Given the description of an element on the screen output the (x, y) to click on. 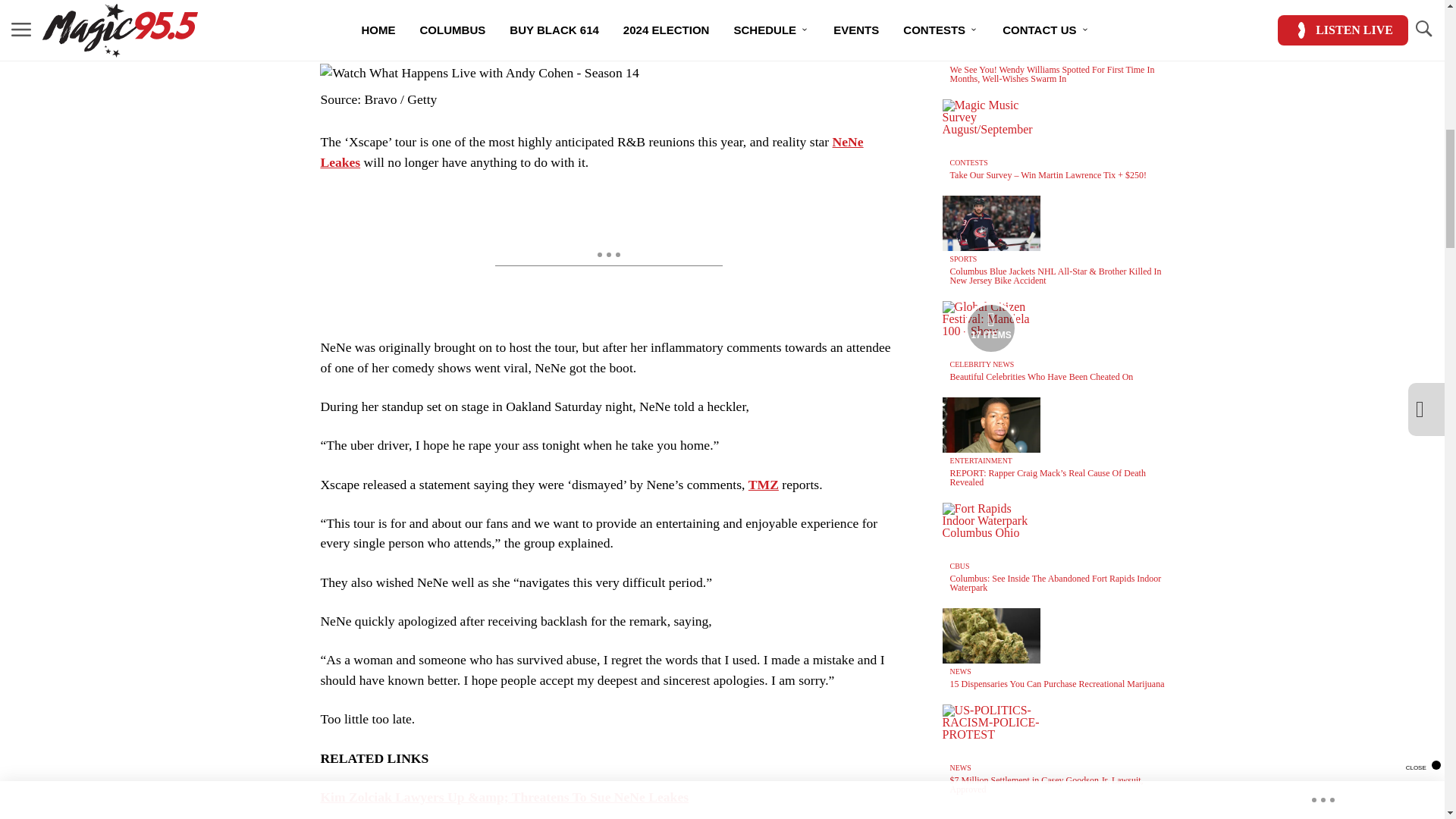
TMZ (763, 484)
Media Playlist (990, 328)
NeNe Leakes (591, 151)
